Given the description of an element on the screen output the (x, y) to click on. 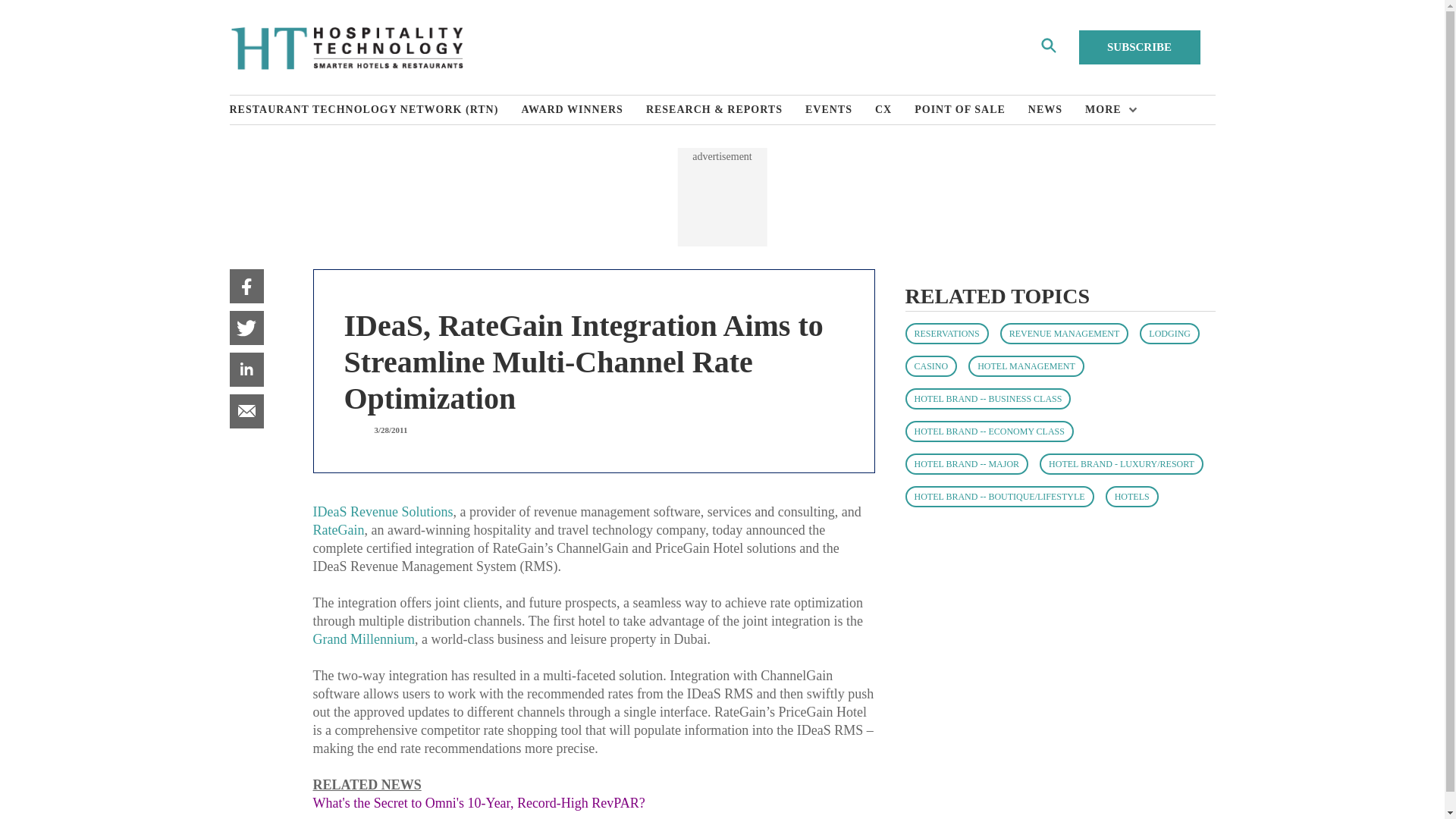
MORE (1106, 109)
AWARD WINNERS (583, 109)
facebook (245, 286)
email (245, 410)
RateGain (338, 529)
twitter (245, 327)
NEWS (1055, 109)
REVENUE MANAGEMENT (1064, 332)
LODGING (1169, 332)
Grand Millennium (363, 639)
IDeaS Revenue Solutions (382, 511)
HOTEL BRAND -- BUSINESS CLASS (988, 398)
What's the Secret to Omni's 10-Year, Record-High RevPAR? (479, 802)
CX (894, 109)
POINT OF SALE (970, 109)
